Given the description of an element on the screen output the (x, y) to click on. 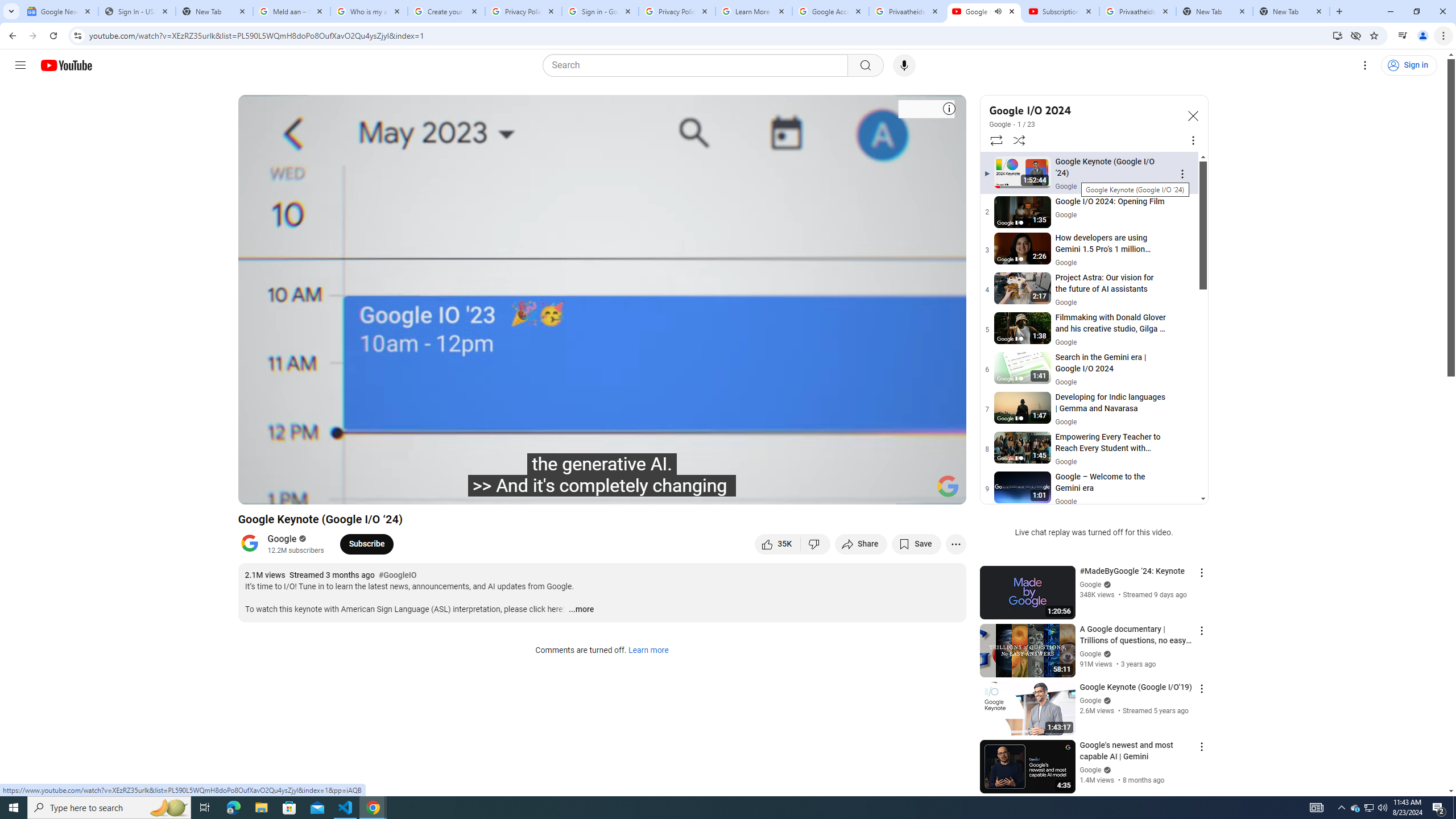
Show cards (949, 106)
Sign In - USA TODAY (136, 11)
Save to playlist (915, 543)
New Tab (1291, 11)
Previous (SHIFT+p) (259, 490)
Opening Film (434, 490)
Subscribe to Google. (366, 543)
